Given the description of an element on the screen output the (x, y) to click on. 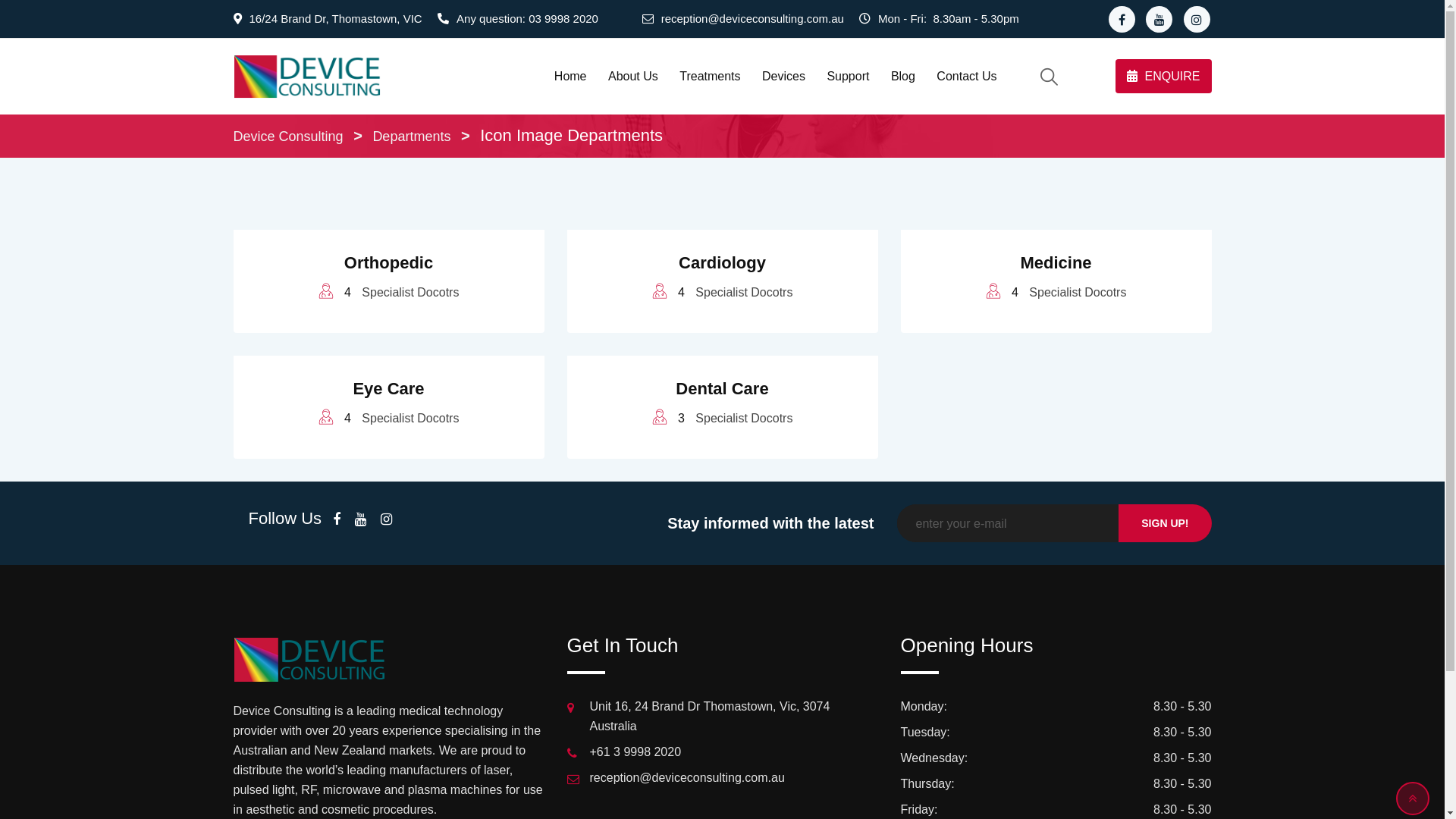
Orthopedic Element type: text (388, 262)
Departments Element type: text (411, 136)
Medicine Element type: text (1055, 262)
+61 3 9998 2020 Element type: text (635, 751)
Eye Care Element type: text (387, 388)
03 9998 2020 Element type: text (563, 18)
Contact Us Element type: text (966, 76)
Dental Care Element type: text (721, 388)
ENQUIRE Element type: text (1163, 76)
Device Consulting Element type: text (288, 136)
Blog Element type: text (902, 76)
Support Element type: text (847, 76)
Home Element type: text (570, 76)
Treatments Element type: text (709, 76)
reception@deviceconsulting.com.au Element type: text (752, 18)
Devices Element type: text (783, 76)
SIGN UP! Element type: text (1164, 522)
Cardiology Element type: text (721, 262)
About Us Element type: text (633, 76)
reception@deviceconsulting.com.au Element type: text (686, 777)
